Given the description of an element on the screen output the (x, y) to click on. 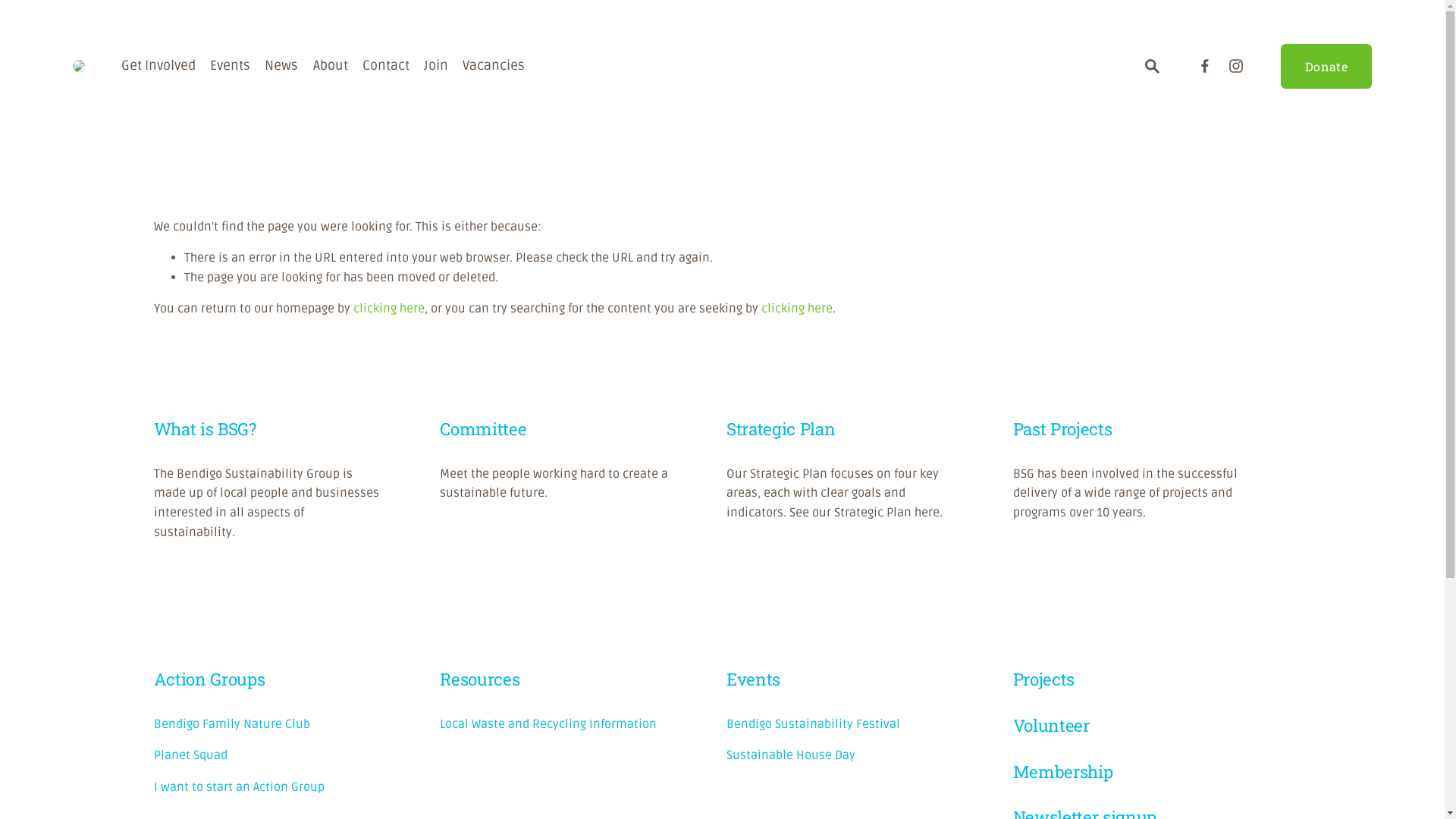
Bendigo Family Nature Club Element type: text (231, 724)
Contact Element type: text (385, 65)
Local Waste and Recycling Information Element type: text (547, 724)
Sustainable House Day Element type: text (790, 755)
Get Involved Element type: text (158, 65)
Planet Squad Element type: text (190, 755)
Join Element type: text (435, 65)
What is BSG? Element type: text (204, 429)
News Element type: text (281, 65)
clicking here Element type: text (388, 308)
Search Search This Website Element type: text (1151, 65)
Strategic Plan Element type: text (780, 429)
Membership Element type: text (1063, 772)
Events Element type: text (230, 65)
Past Projects Element type: text (1062, 429)
Volunteer Element type: text (1051, 726)
Bendigo Sustainability Festival Element type: text (813, 724)
Action Groups Element type: text (209, 679)
About Element type: text (330, 65)
Resources Element type: text (479, 679)
Projects Element type: text (1043, 679)
I want to start an Action Group Element type: text (238, 787)
Donate Element type: text (1325, 65)
Vacancies Element type: text (493, 65)
Events Element type: text (753, 679)
Committee Element type: text (482, 429)
clicking here Element type: text (796, 308)
